Given the description of an element on the screen output the (x, y) to click on. 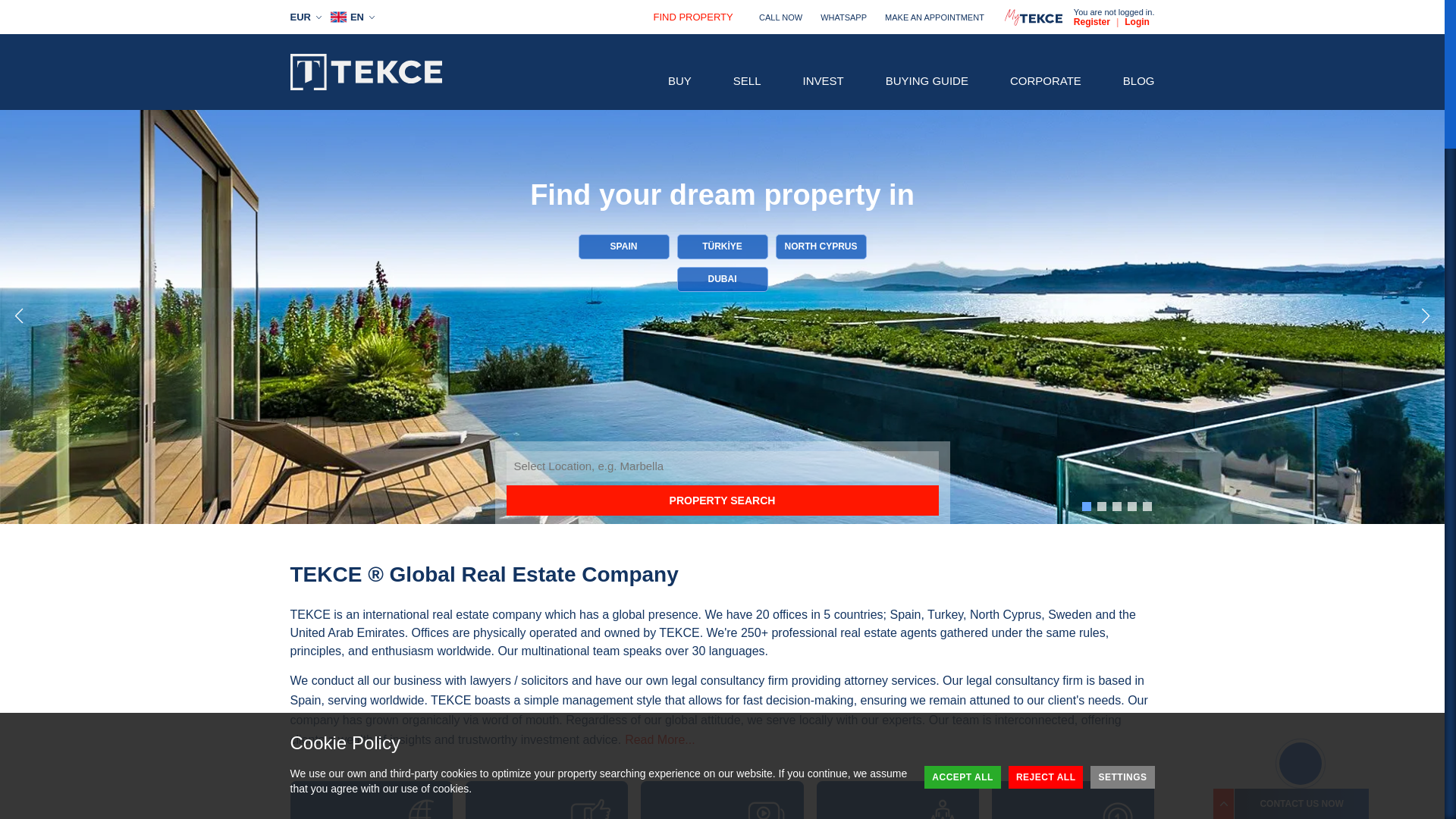
SPAIN (623, 246)
NORTH CYPRUS (820, 246)
DUBAI (722, 278)
